Given the description of an element on the screen output the (x, y) to click on. 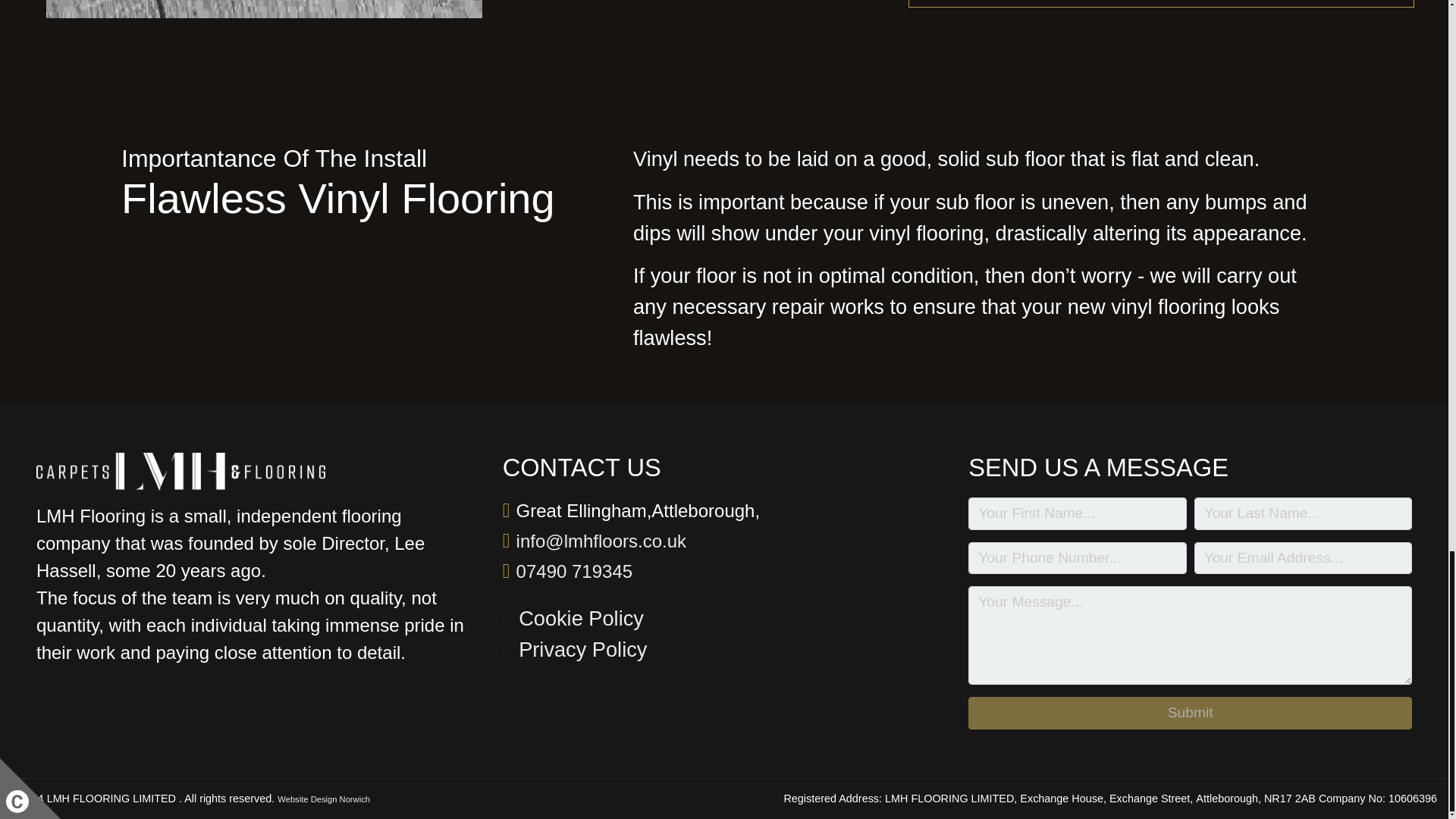
Link to Cookie Policy (580, 618)
Privacy Policy (582, 649)
Website Design Norwich (323, 799)
Submit (1190, 712)
Submit (1190, 712)
07490 719345 (574, 571)
Link to Privacy Policy (582, 649)
Cookie Policy (580, 618)
